Given the description of an element on the screen output the (x, y) to click on. 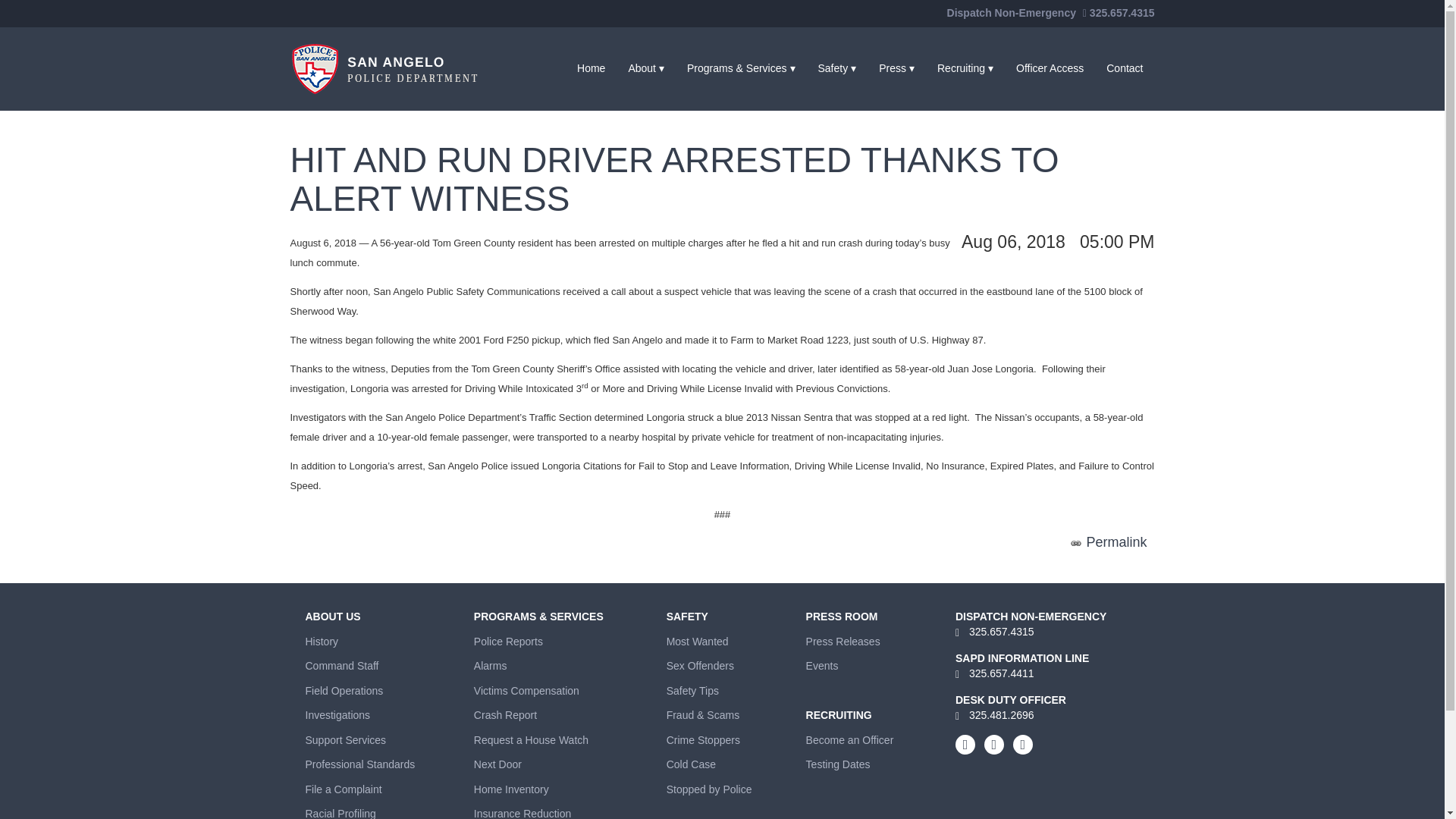
About (645, 68)
Home (590, 68)
Press (896, 68)
Safety (836, 68)
About (645, 68)
Home (590, 68)
